Given the description of an element on the screen output the (x, y) to click on. 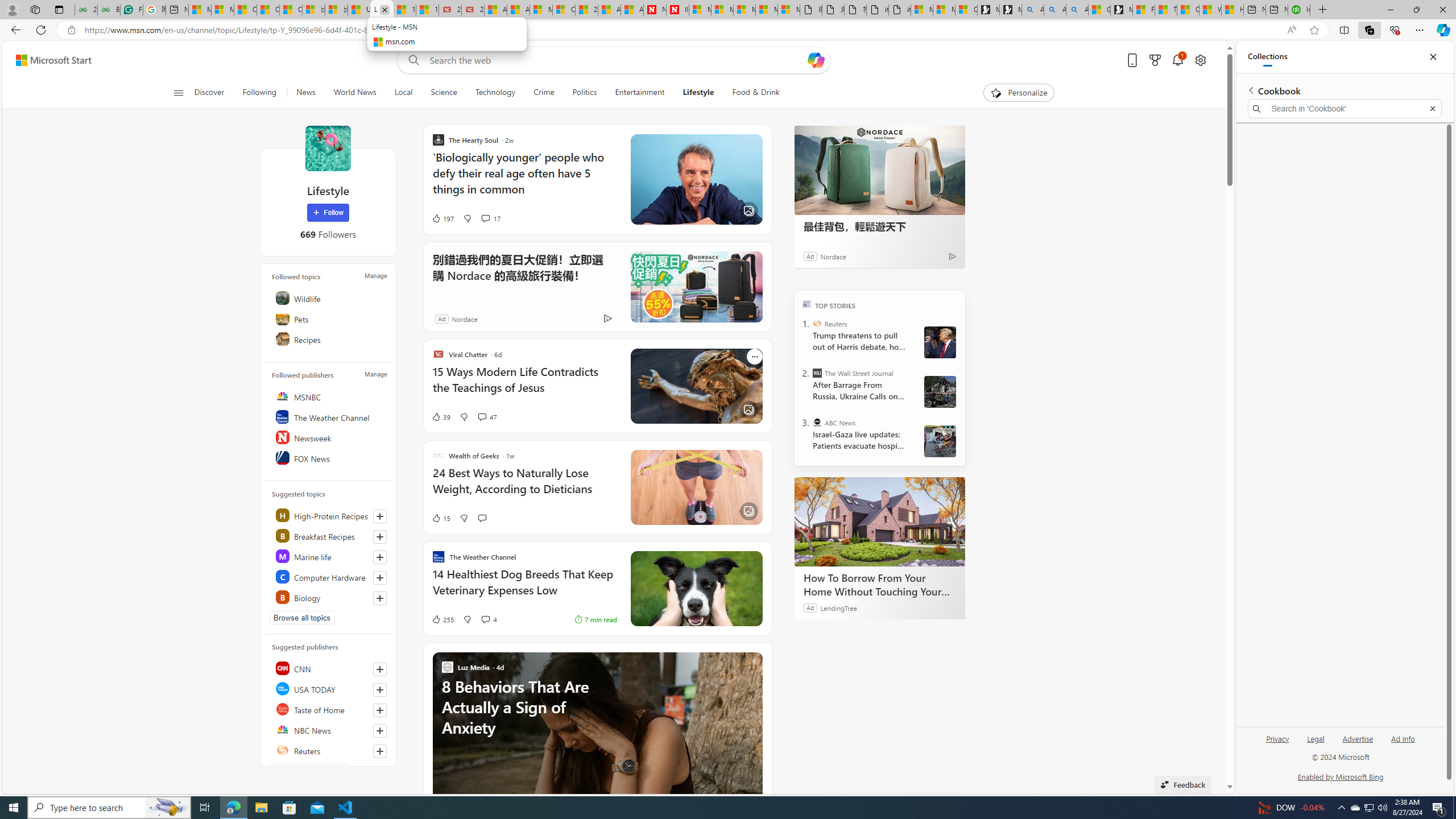
Start the conversation (481, 517)
View comments 4 Comment (485, 619)
20 Ways to Boost Your Protein Intake at Every Meal (586, 9)
Image Credit: Crystal Cox/Business Insider (696, 179)
Reuters (816, 323)
14 Healthiest Dog Breeds That Keep Veterinary Expenses Low (524, 587)
Entertainment (639, 92)
NBC News (328, 729)
New tab (1276, 9)
Illness news & latest pictures from Newsweek.com (677, 9)
USA TODAY (328, 688)
